Given the description of an element on the screen output the (x, y) to click on. 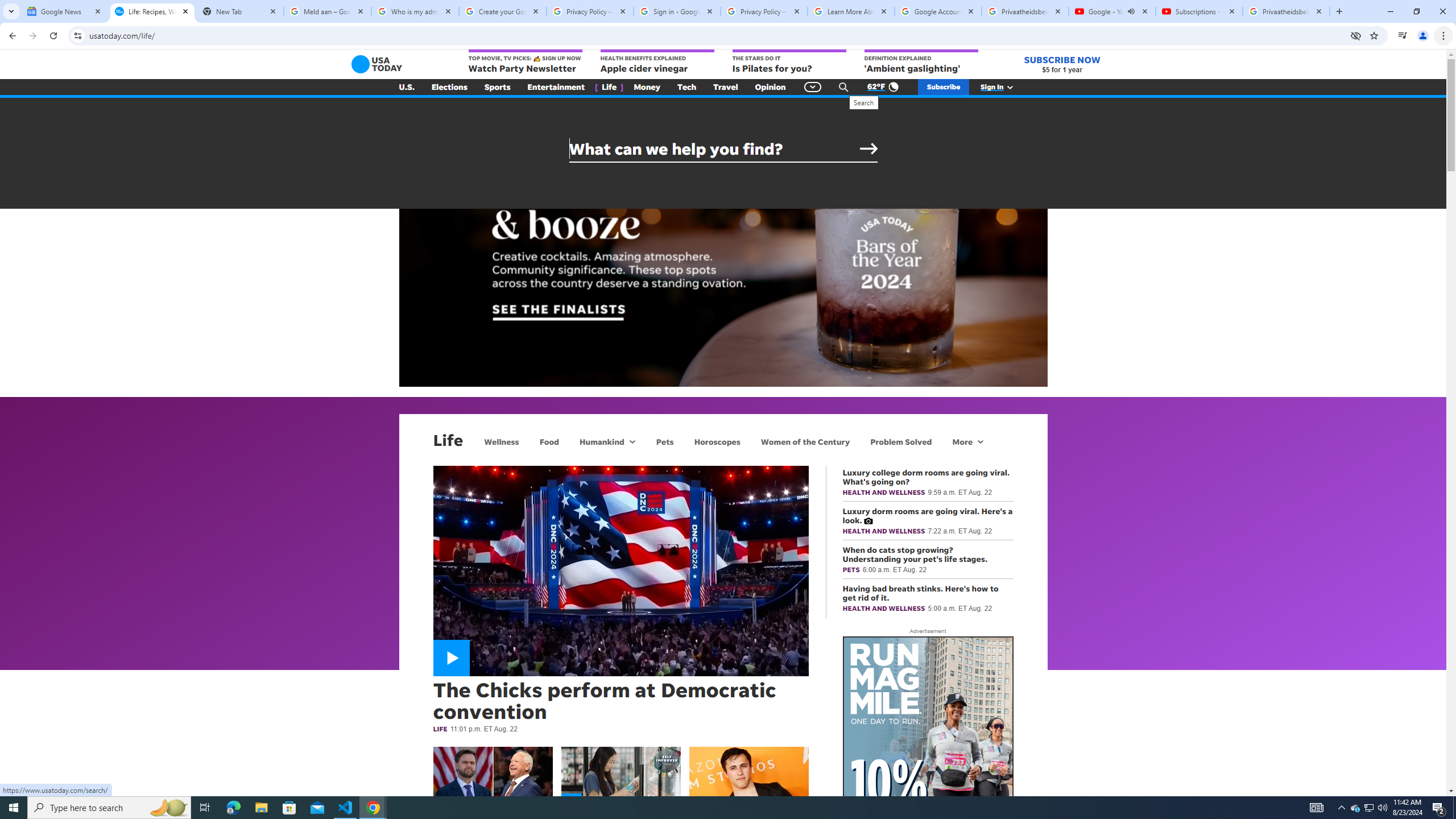
Women of the Century (805, 441)
More Humankind navigation (631, 441)
Entertainment (556, 87)
New Tab (239, 11)
Opinion (770, 87)
Sign in - Google Accounts (676, 11)
Pets (664, 441)
